Given the description of an element on the screen output the (x, y) to click on. 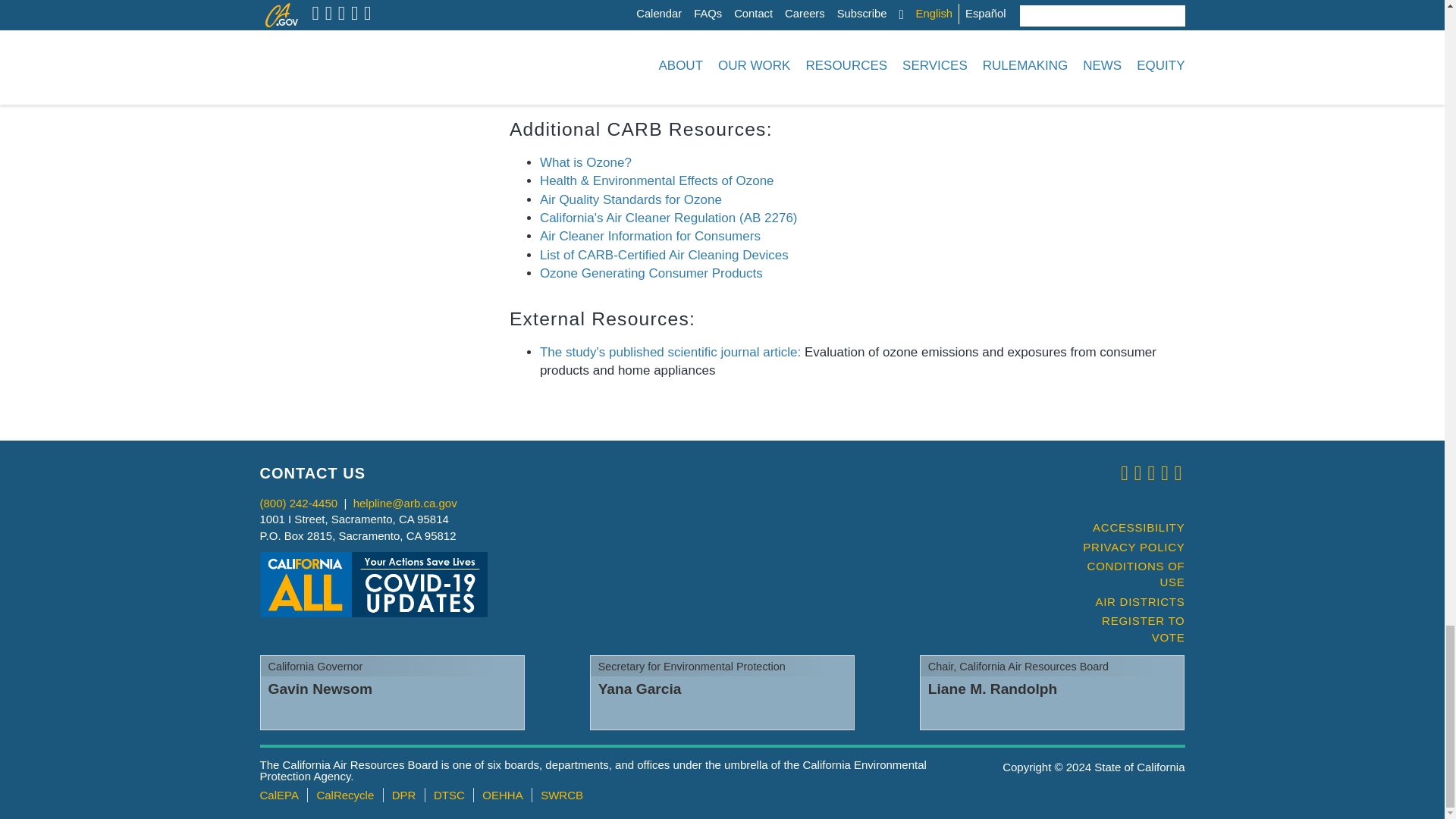
California Environmental Protection Agency (278, 794)
California online voter registration (1127, 628)
